Given the description of an element on the screen output the (x, y) to click on. 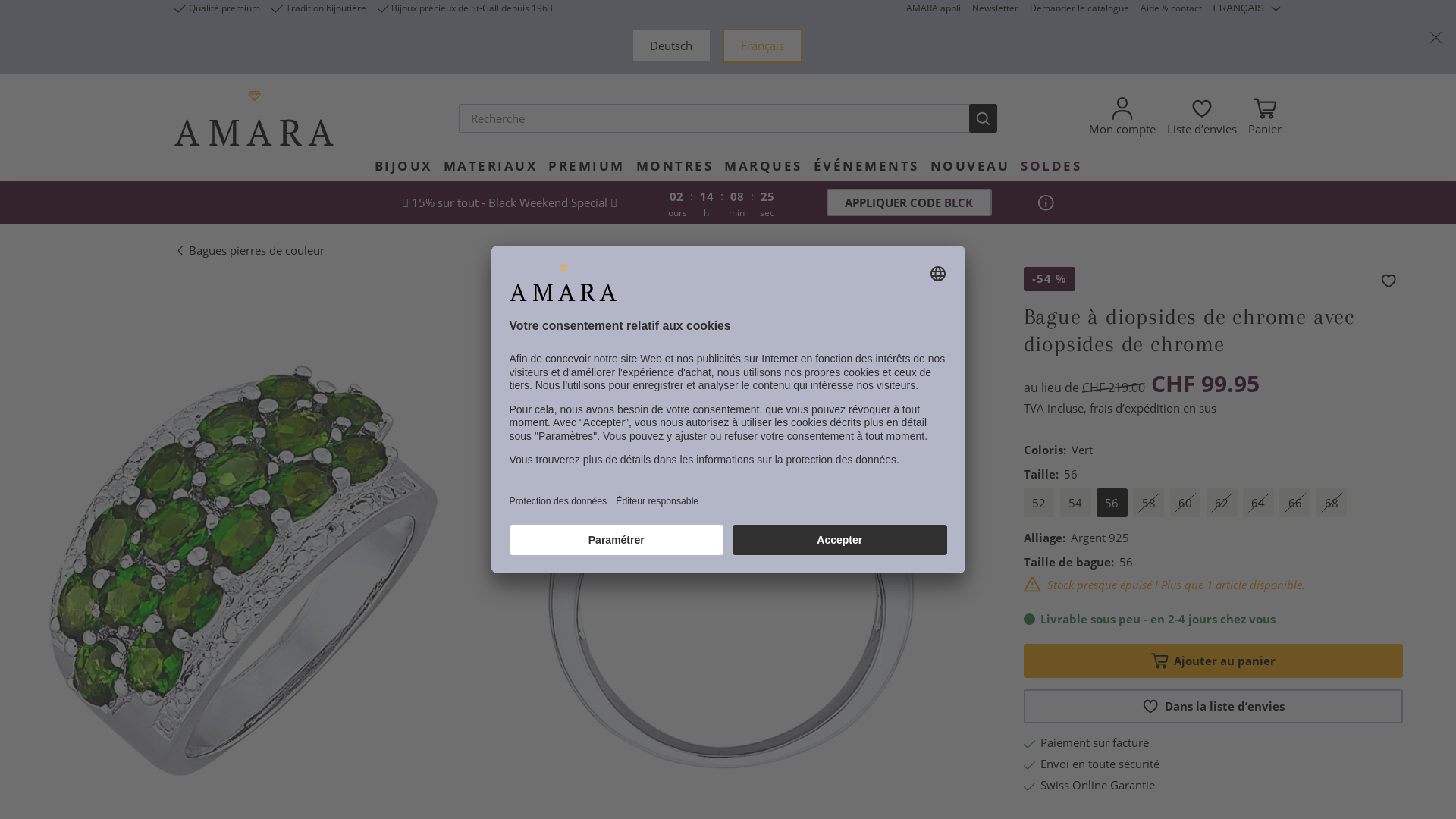
MONTRES Element type: text (674, 165)
Demander le catalogue Element type: text (1079, 7)
MARQUES Element type: text (763, 165)
58 Element type: text (1149, 502)
Aide & contact Element type: text (1170, 7)
52 Element type: text (1039, 502)
56 Element type: text (1112, 502)
SOLDES Element type: text (1050, 165)
Panier Element type: text (1264, 117)
66 Element type: text (1295, 502)
Mon compte Element type: text (1121, 117)
AMARA appli Element type: text (932, 7)
Deutsch Element type: text (670, 45)
NOUVEAU Element type: text (970, 165)
APPLIQUER CODE 
BLCK Element type: text (908, 202)
68 Element type: text (1331, 502)
60 Element type: text (1185, 502)
Newsletter Element type: text (995, 7)
Bagues pierres de couleur Element type: text (249, 250)
PREMIUM Element type: text (586, 165)
64 Element type: text (1259, 502)
MATERIAUX Element type: text (490, 165)
Ajouter au panier Element type: text (1212, 660)
62 Element type: text (1222, 502)
54 Element type: text (1075, 502)
BIJOUX Element type: text (403, 165)
